Given the description of an element on the screen output the (x, y) to click on. 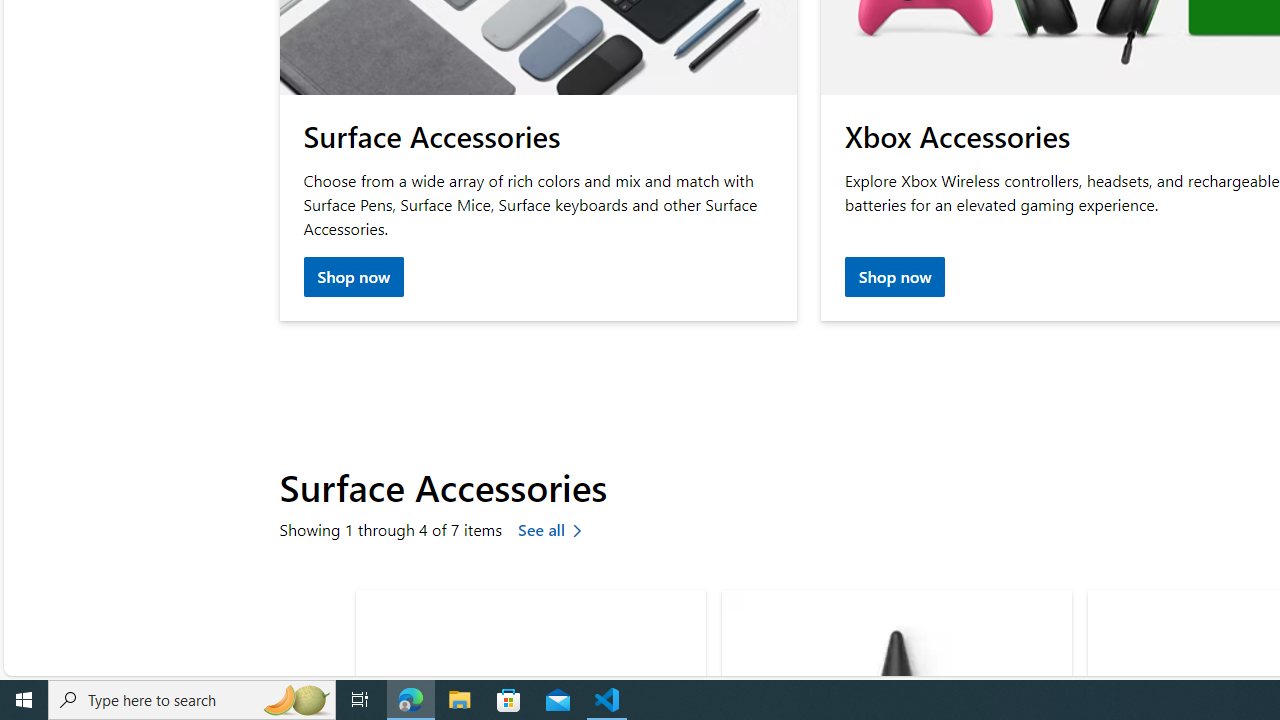
Shop now Xbox Accessories (894, 277)
Shop now Surface accessories (353, 277)
See all Surface Accessories (554, 531)
